Given the description of an element on the screen output the (x, y) to click on. 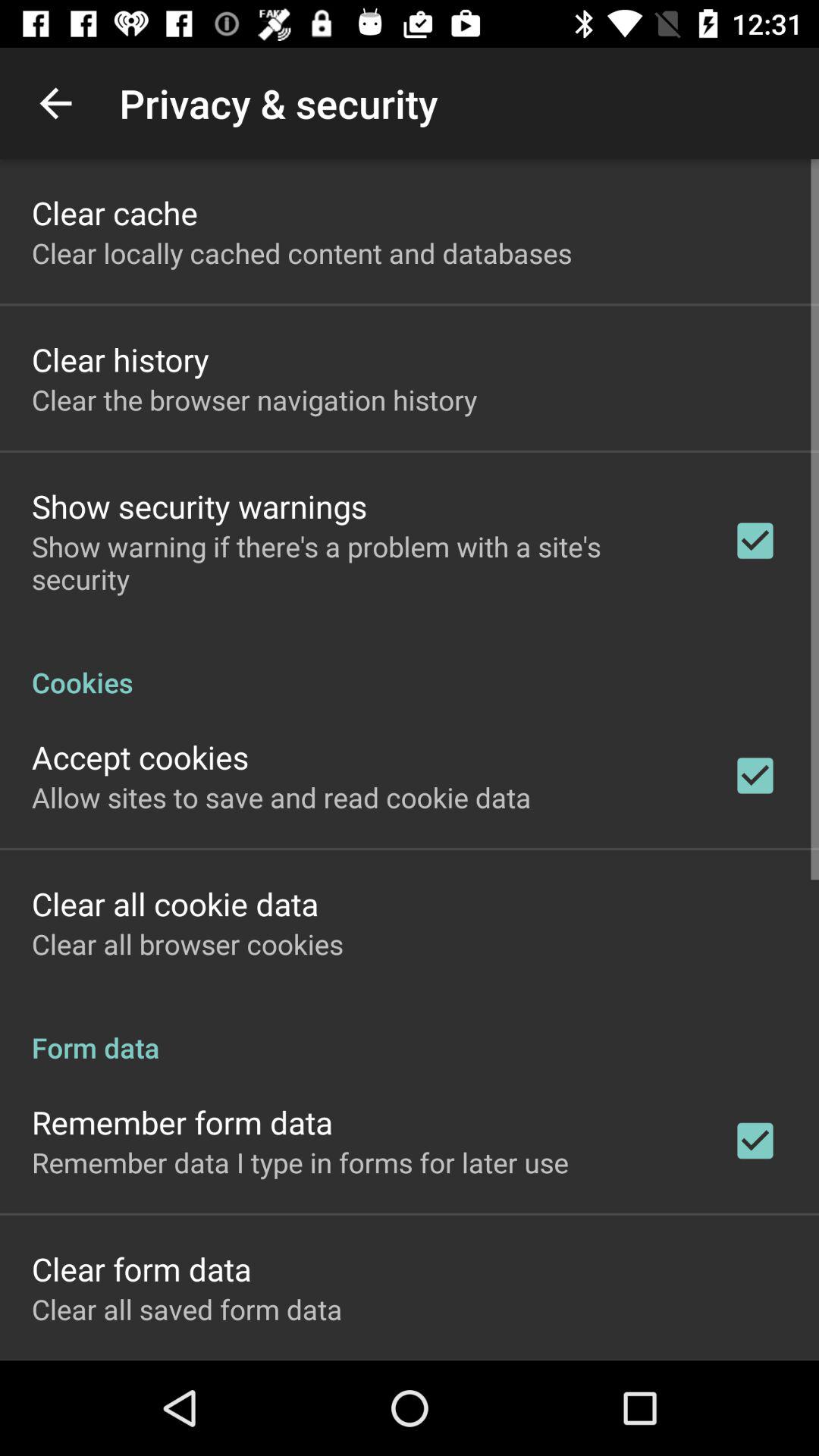
select the accept cookies icon (140, 756)
